Given the description of an element on the screen output the (x, y) to click on. 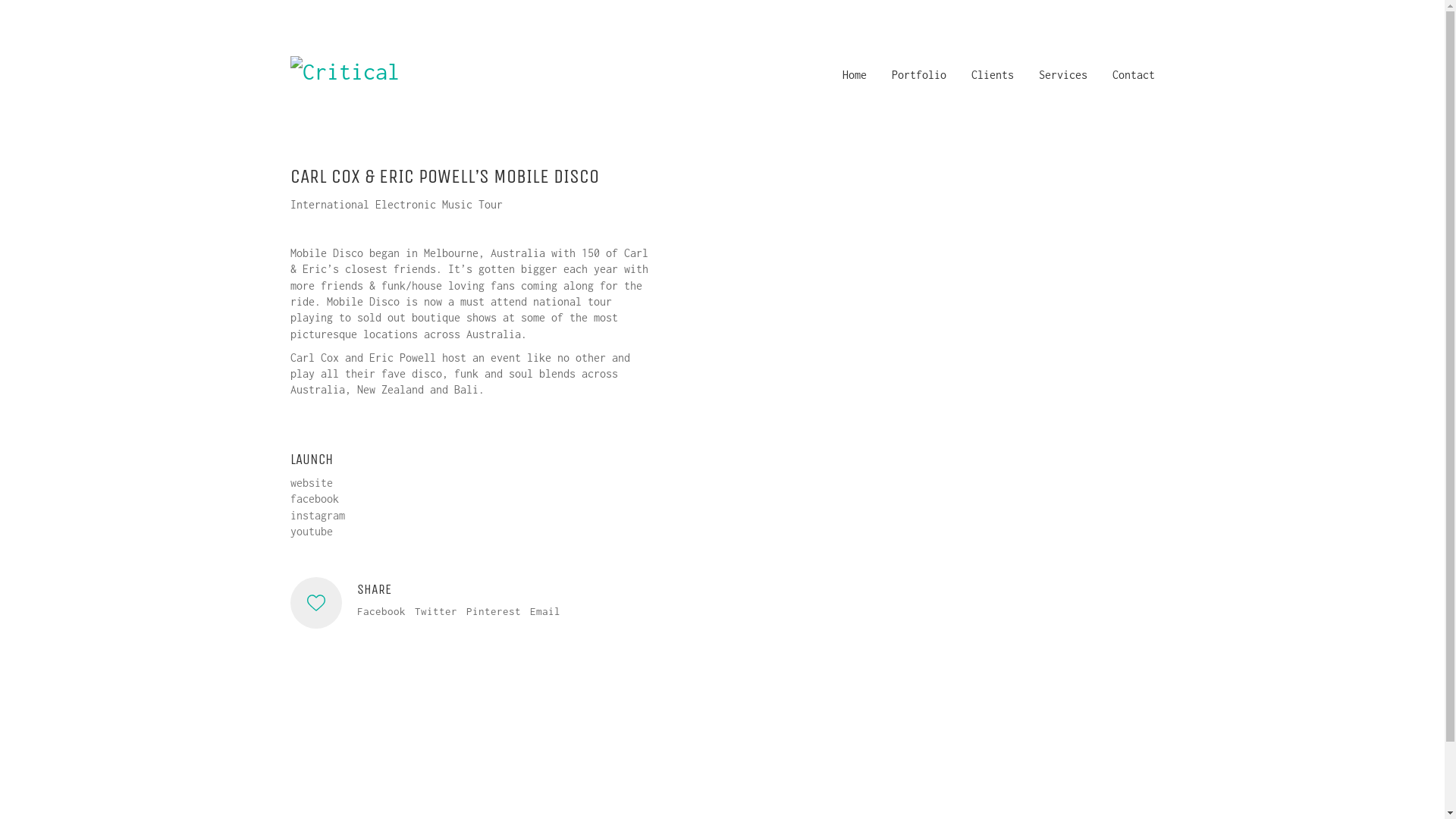
Twitter Element type: text (435, 611)
youtube Element type: text (310, 530)
website Element type: text (310, 482)
Email Element type: text (544, 611)
instagram Element type: text (316, 514)
facebook Element type: text (313, 498)
Facebook Element type: text (380, 611)
Pinterest Element type: text (492, 611)
Clients Element type: text (991, 74)
Contact Element type: text (1132, 74)
Services Element type: text (1062, 74)
Portfolio Element type: text (918, 74)
Home Element type: text (853, 74)
